Given the description of an element on the screen output the (x, y) to click on. 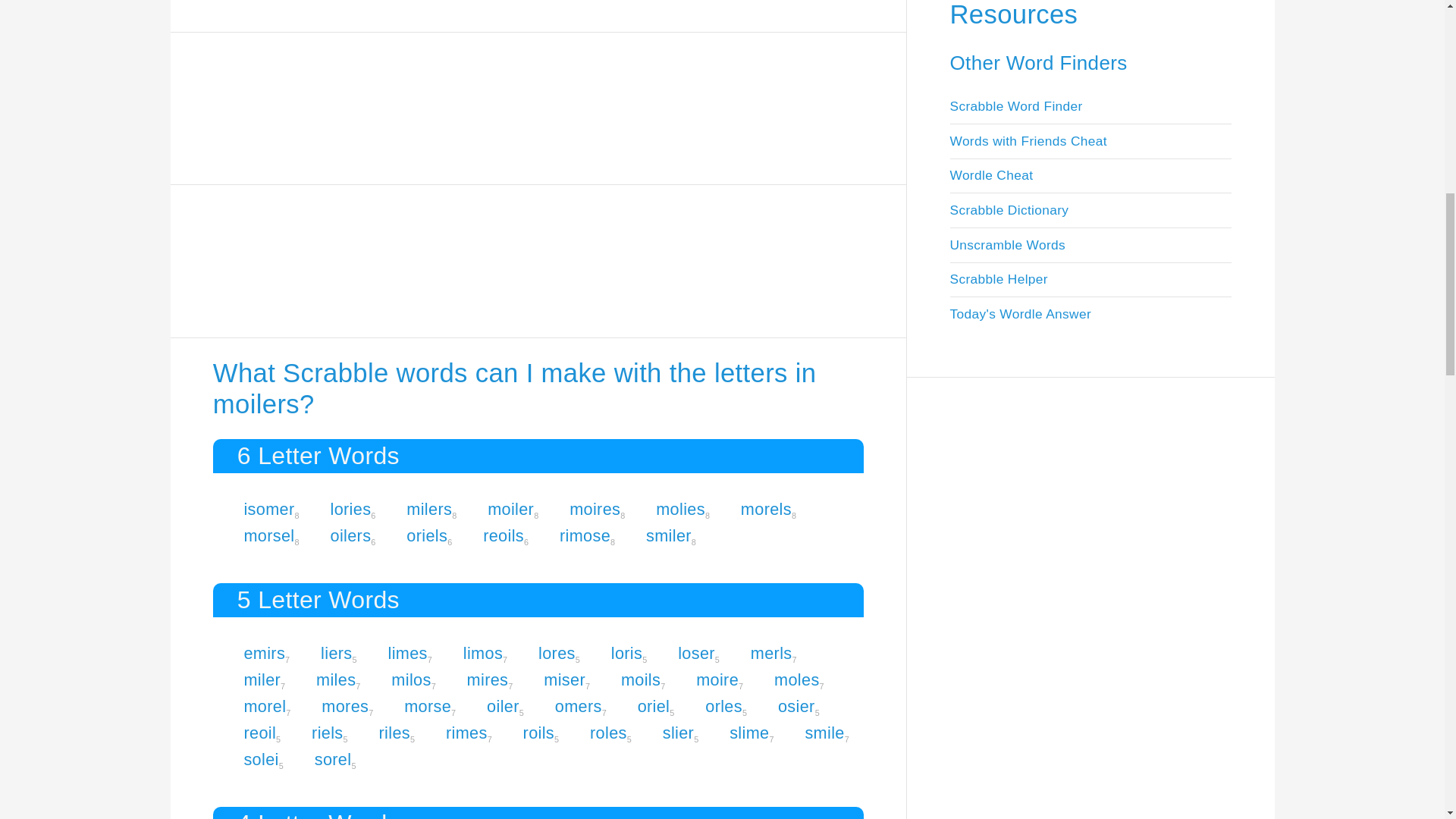
isomer (268, 508)
milers (428, 508)
morels (766, 508)
molies (680, 508)
moiler (510, 508)
lories (350, 508)
moires (594, 508)
